Given the description of an element on the screen output the (x, y) to click on. 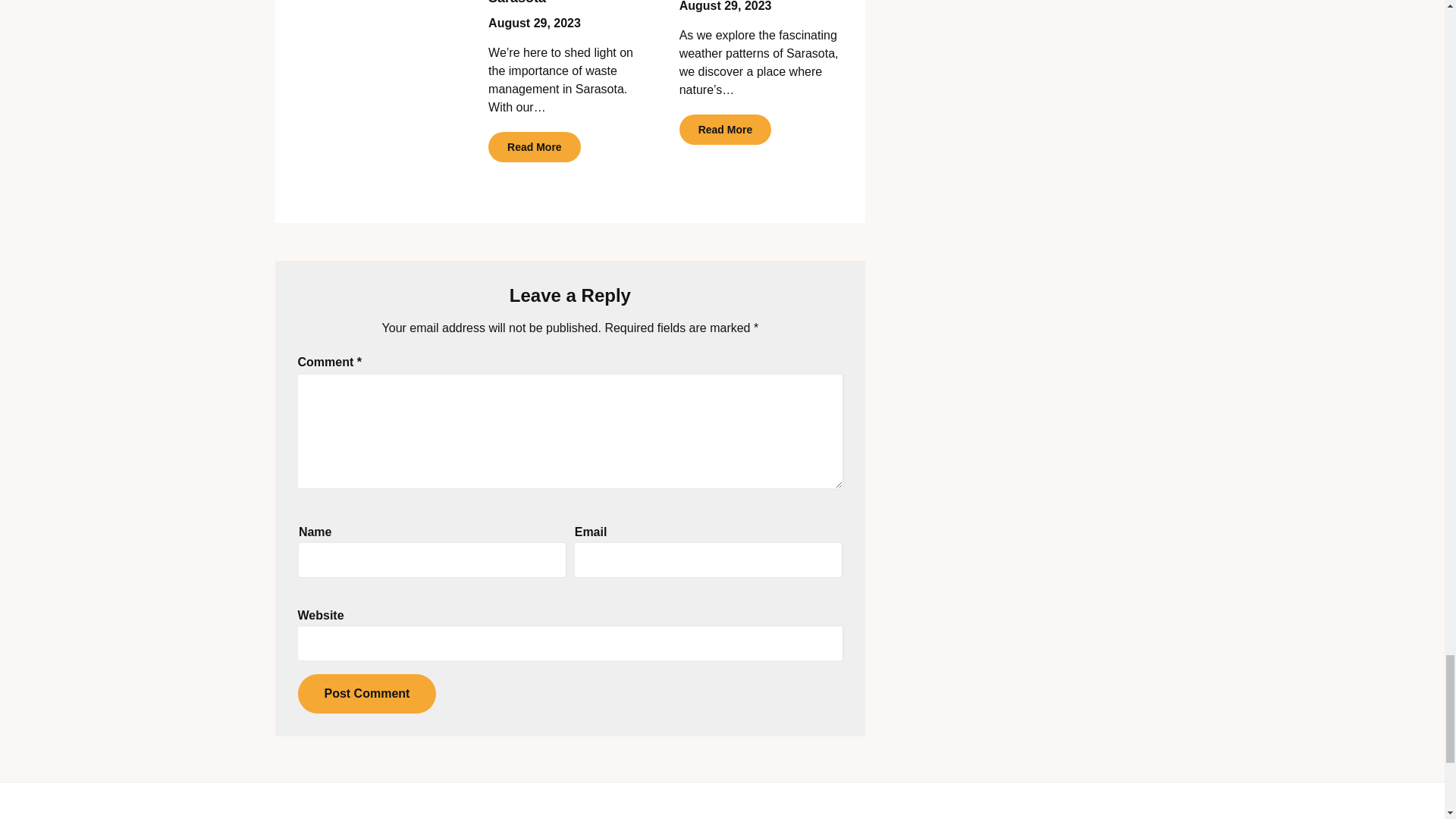
Read More (533, 146)
August 29, 2023 (533, 22)
Waste Management Sarasota (550, 2)
Post Comment (366, 693)
